Given the description of an element on the screen output the (x, y) to click on. 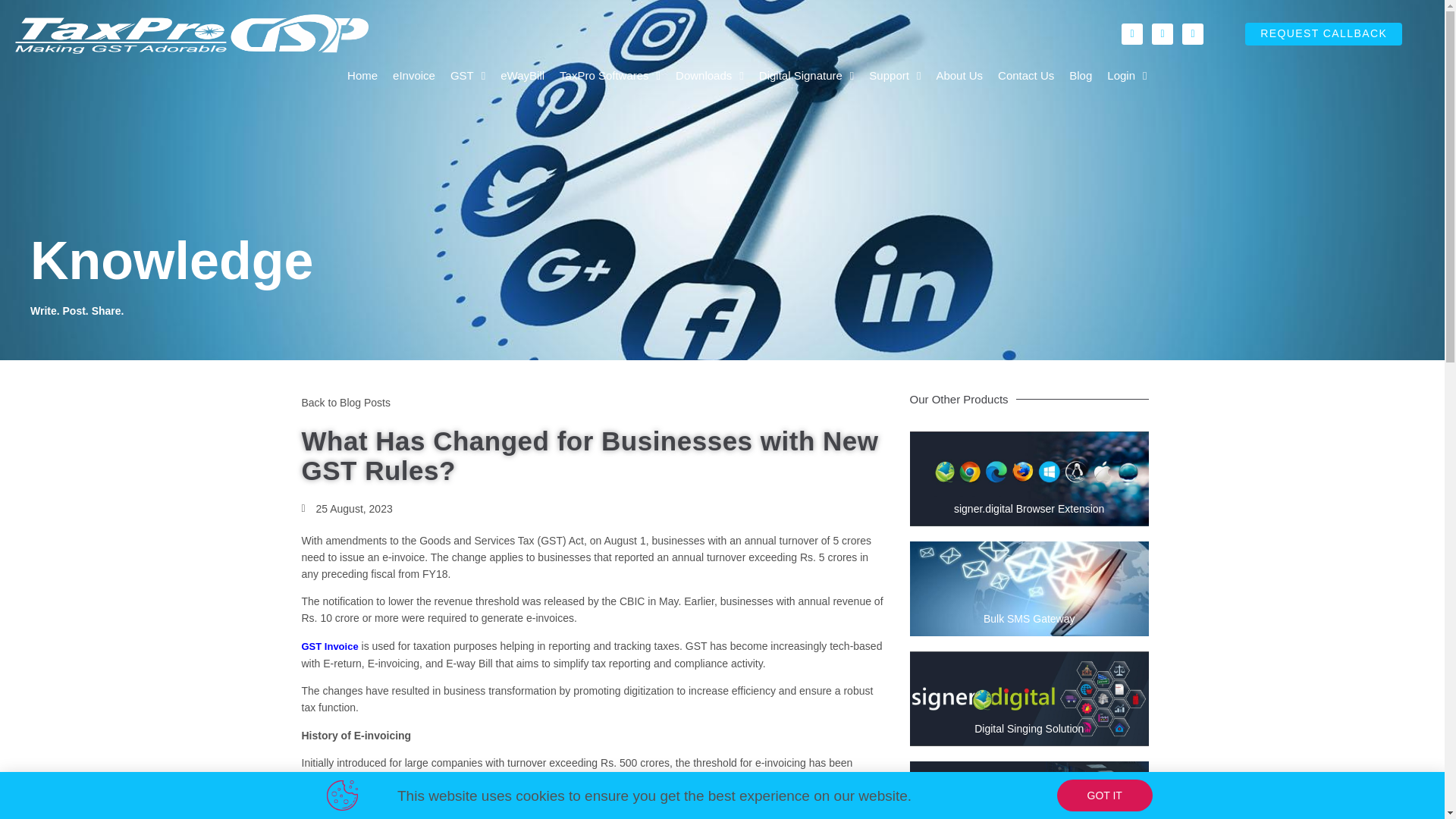
REQUEST CALLBACK (1323, 33)
Contact Us (1025, 75)
Home (362, 75)
Downloads (709, 75)
eInvoice (413, 75)
GST (467, 75)
Login (1126, 75)
About Us (959, 75)
TaxPro Softwares (609, 75)
Blog (1080, 75)
